Given the description of an element on the screen output the (x, y) to click on. 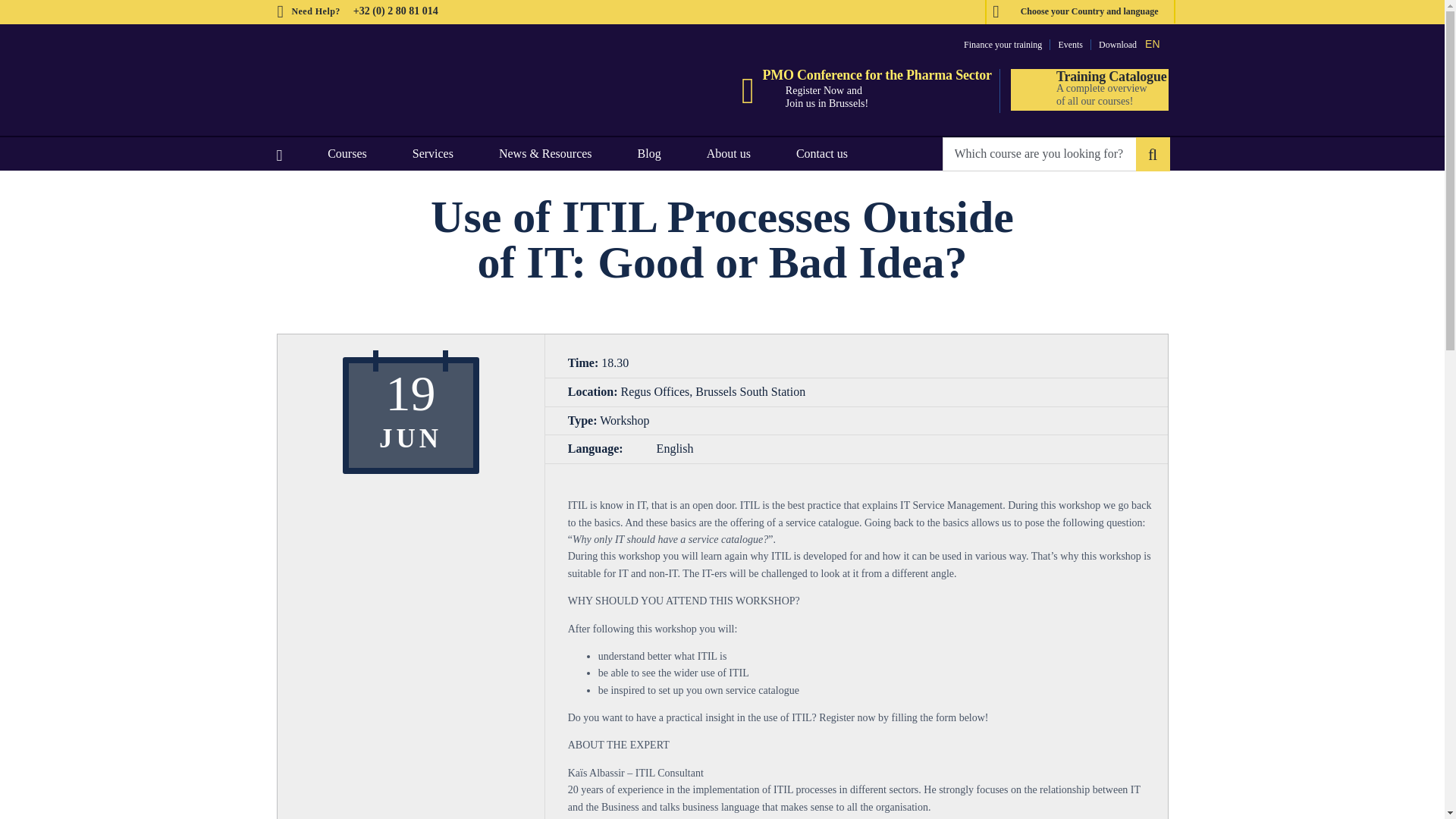
Events (1070, 44)
Courses (347, 153)
Finance your training (1002, 44)
EN (1152, 43)
Download (1118, 44)
